Given the description of an element on the screen output the (x, y) to click on. 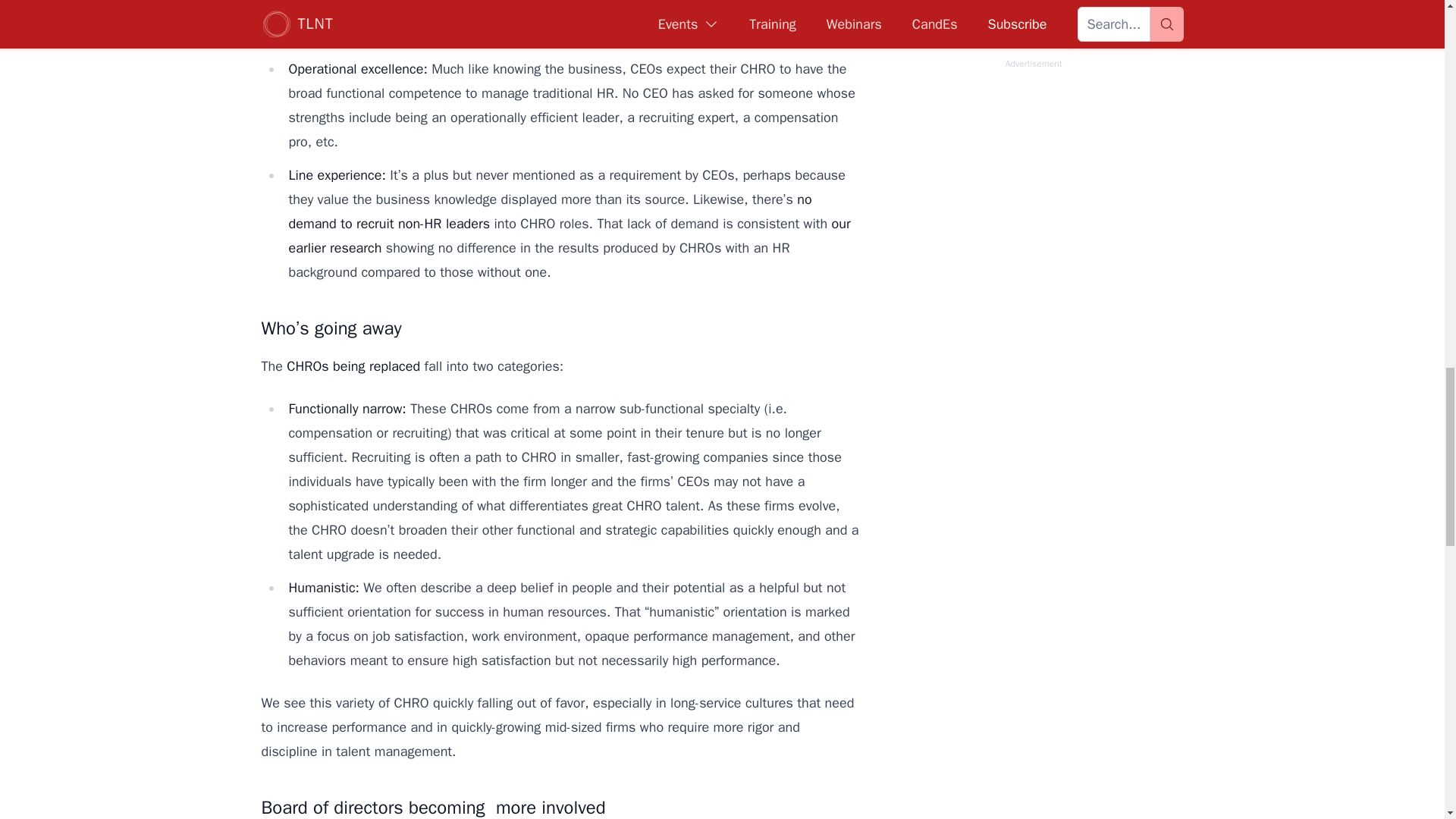
3rd party ad content (1033, 97)
our earlier research (569, 235)
CHROs being replaced (353, 365)
no demand to recruit non-HR leaders (549, 210)
